Given the description of an element on the screen output the (x, y) to click on. 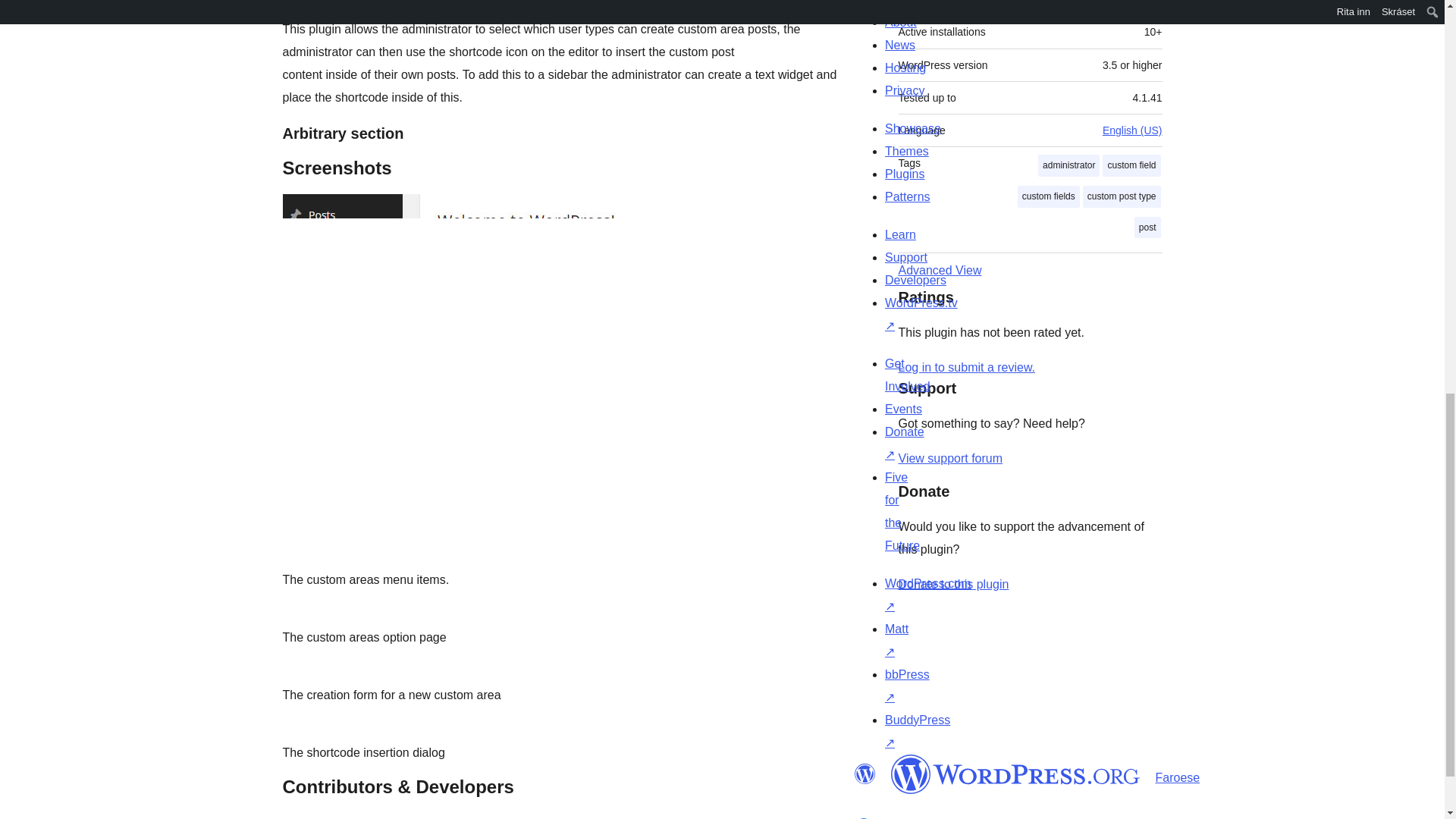
WordPress.org (1014, 773)
WordPress.org (864, 773)
Log in to WordPress.org (966, 367)
